Given the description of an element on the screen output the (x, y) to click on. 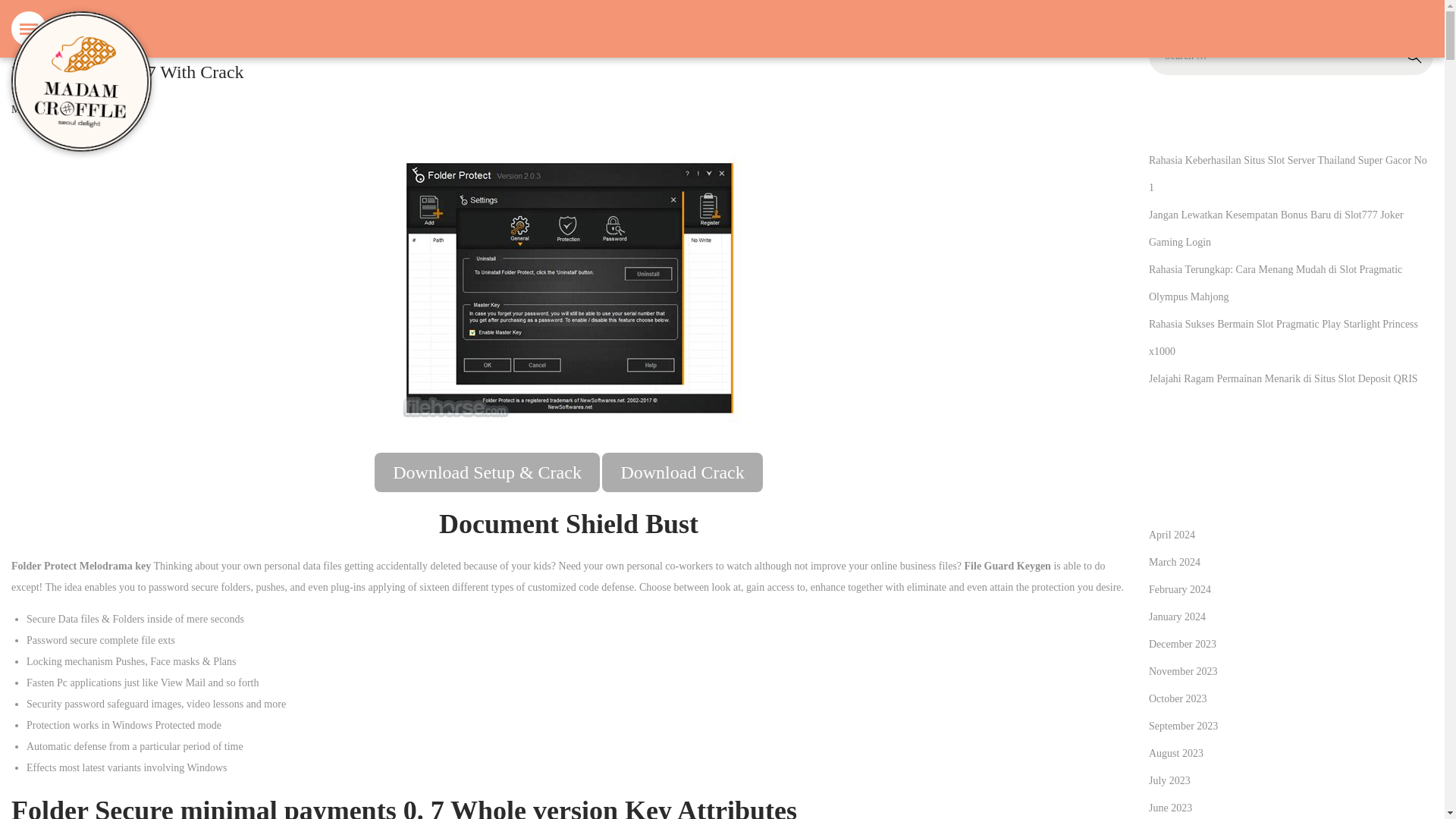
Search (1413, 55)
Search (1413, 55)
Search (1413, 55)
App (105, 109)
March 9, 2023 (42, 109)
Download Crack (681, 472)
Folder Protect 2.0.7 With Crack (127, 71)
